Given the description of an element on the screen output the (x, y) to click on. 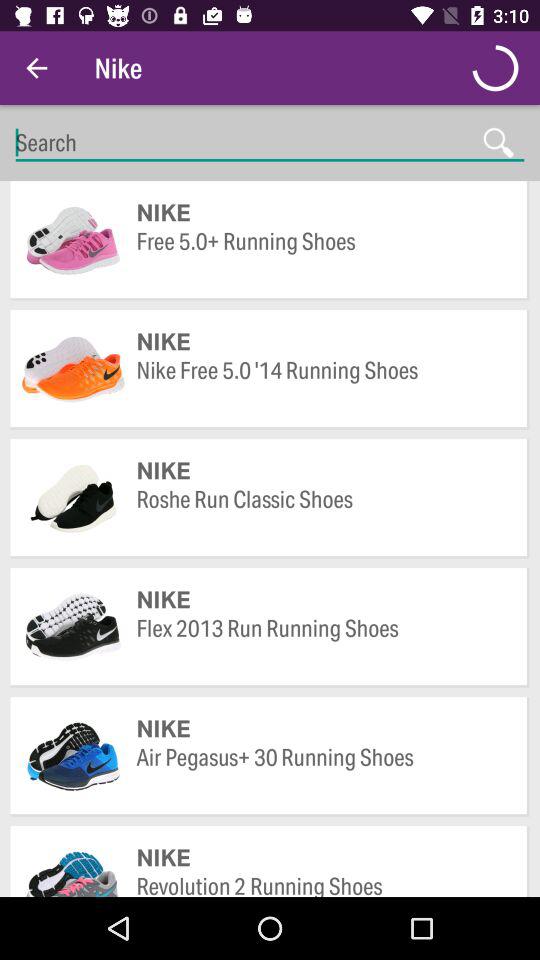
select icon to the left of nike icon (36, 68)
